Given the description of an element on the screen output the (x, y) to click on. 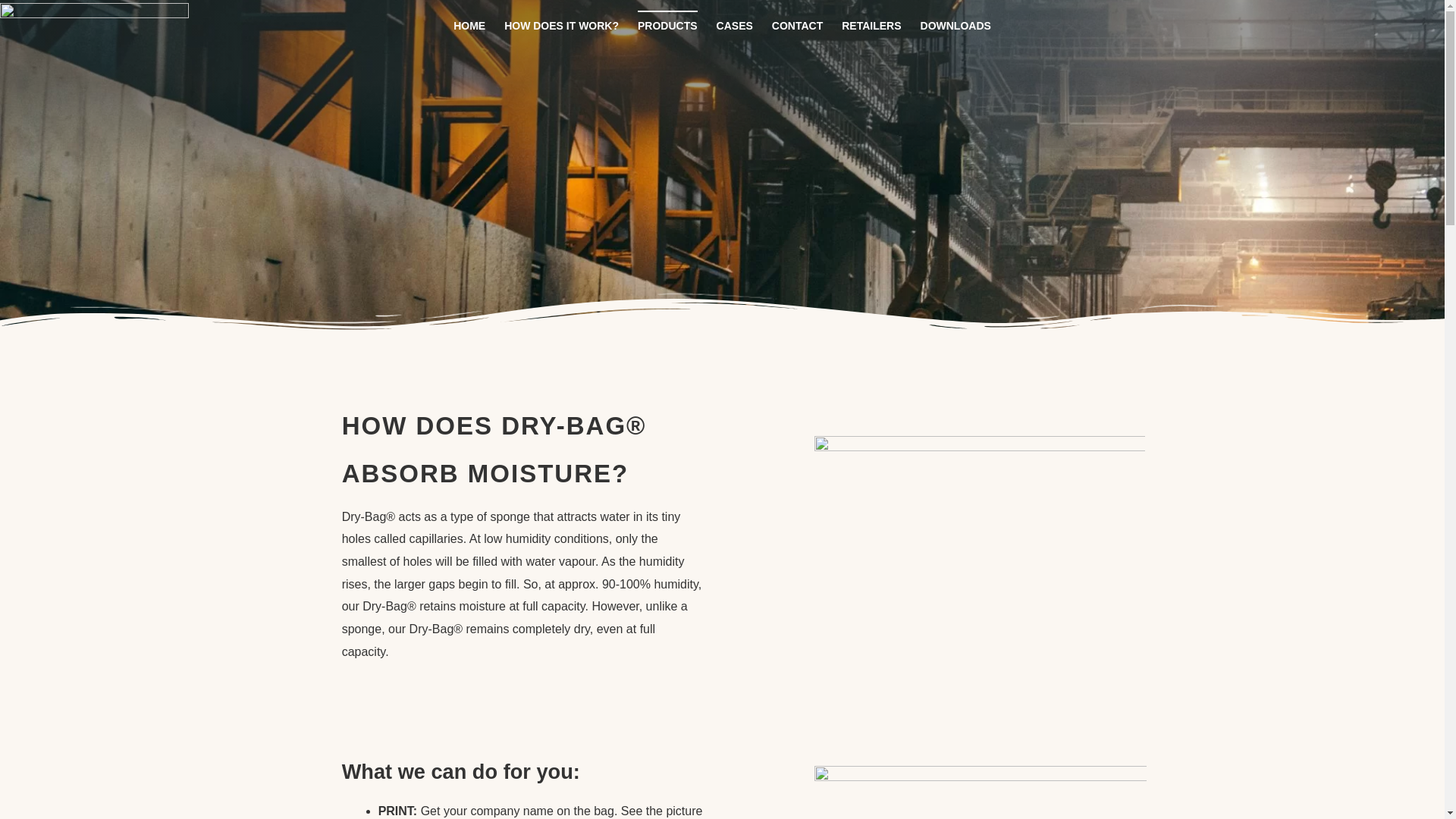
HOW DOES IT WORK? (560, 25)
HOME (468, 25)
CASES (734, 25)
RETAILERS (871, 25)
DOWNLOADS (955, 25)
CONTACT (796, 25)
PRODUCTS (667, 25)
